Given the description of an element on the screen output the (x, y) to click on. 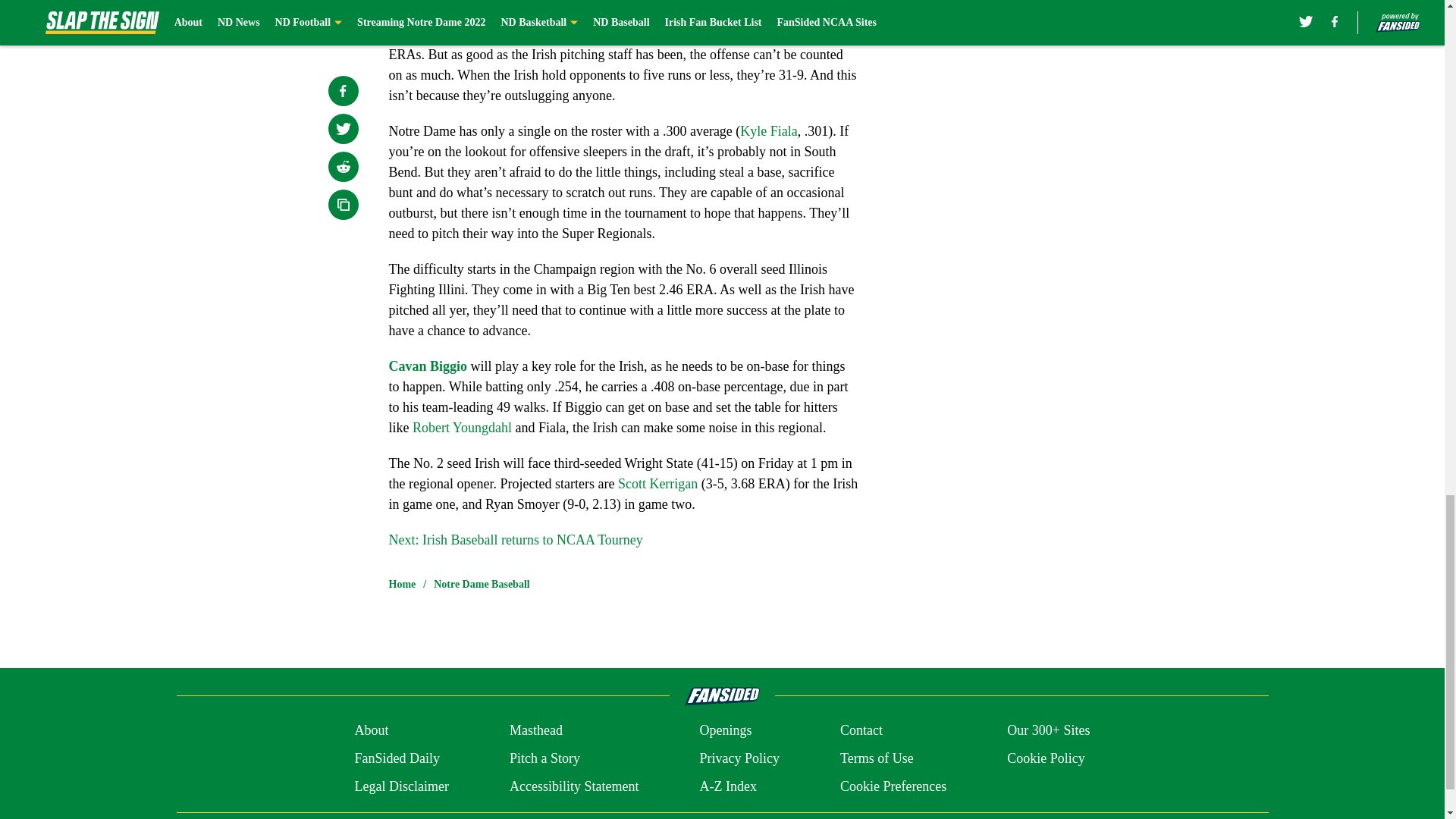
Terms of Use (877, 758)
Kyle Fiala (767, 130)
Notre Dame Baseball (481, 584)
Pitch a Story (544, 758)
Cookie Policy (1045, 758)
Next: Irish Baseball returns to NCAA Tourney (515, 539)
Privacy Policy (738, 758)
Cavan Biggio (427, 365)
Contact (861, 730)
About (370, 730)
Ryan Smoyer (818, 13)
Openings (724, 730)
FanSided Daily (396, 758)
Scott Kerrigan (657, 483)
Robert Youngdahl (462, 427)
